Given the description of an element on the screen output the (x, y) to click on. 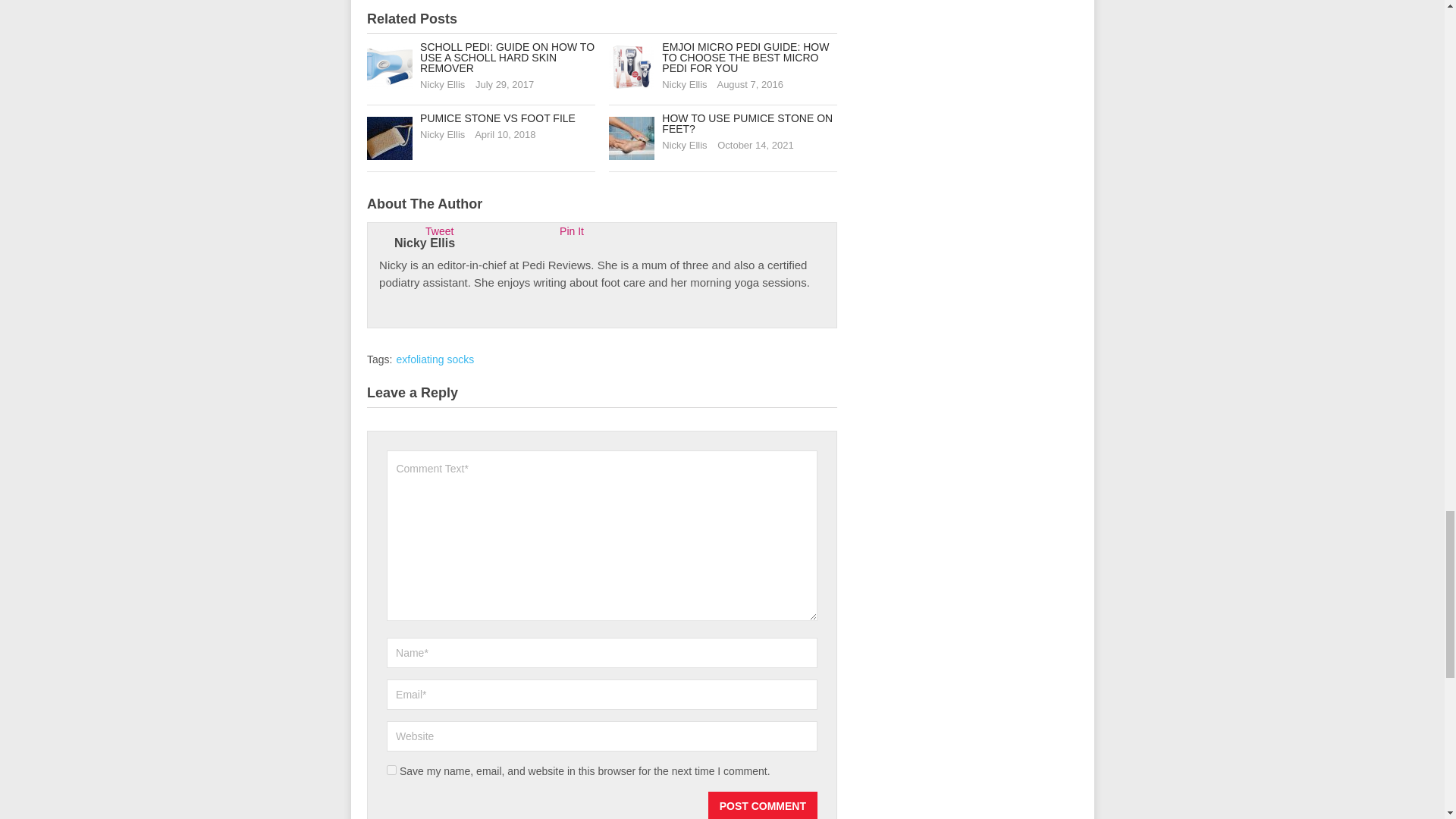
exfoliating socks (435, 358)
Nicky Ellis (684, 84)
Nicky Ellis (424, 242)
Nicky Ellis (442, 84)
Nicky Ellis (442, 134)
yes (391, 769)
HOW TO USE PUMICE STONE ON FEET? (747, 123)
SCHOLL PEDI: GUIDE ON HOW TO USE A SCHOLL HARD SKIN REMOVER (507, 57)
Post Comment (761, 805)
